Given the description of an element on the screen output the (x, y) to click on. 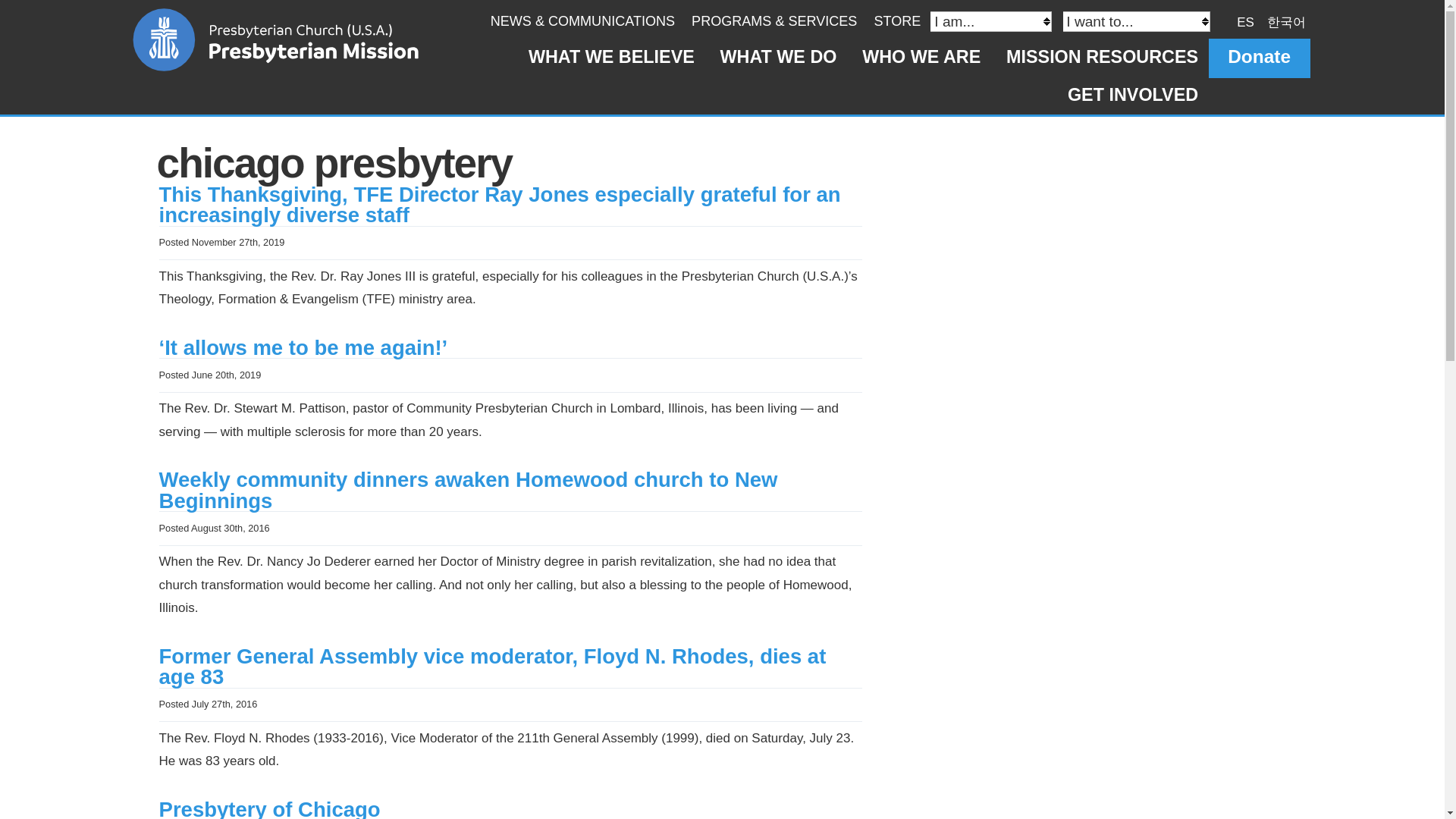
STORE (896, 20)
ES (1245, 22)
Presbytery of Chicago (269, 808)
